Given the description of an element on the screen output the (x, y) to click on. 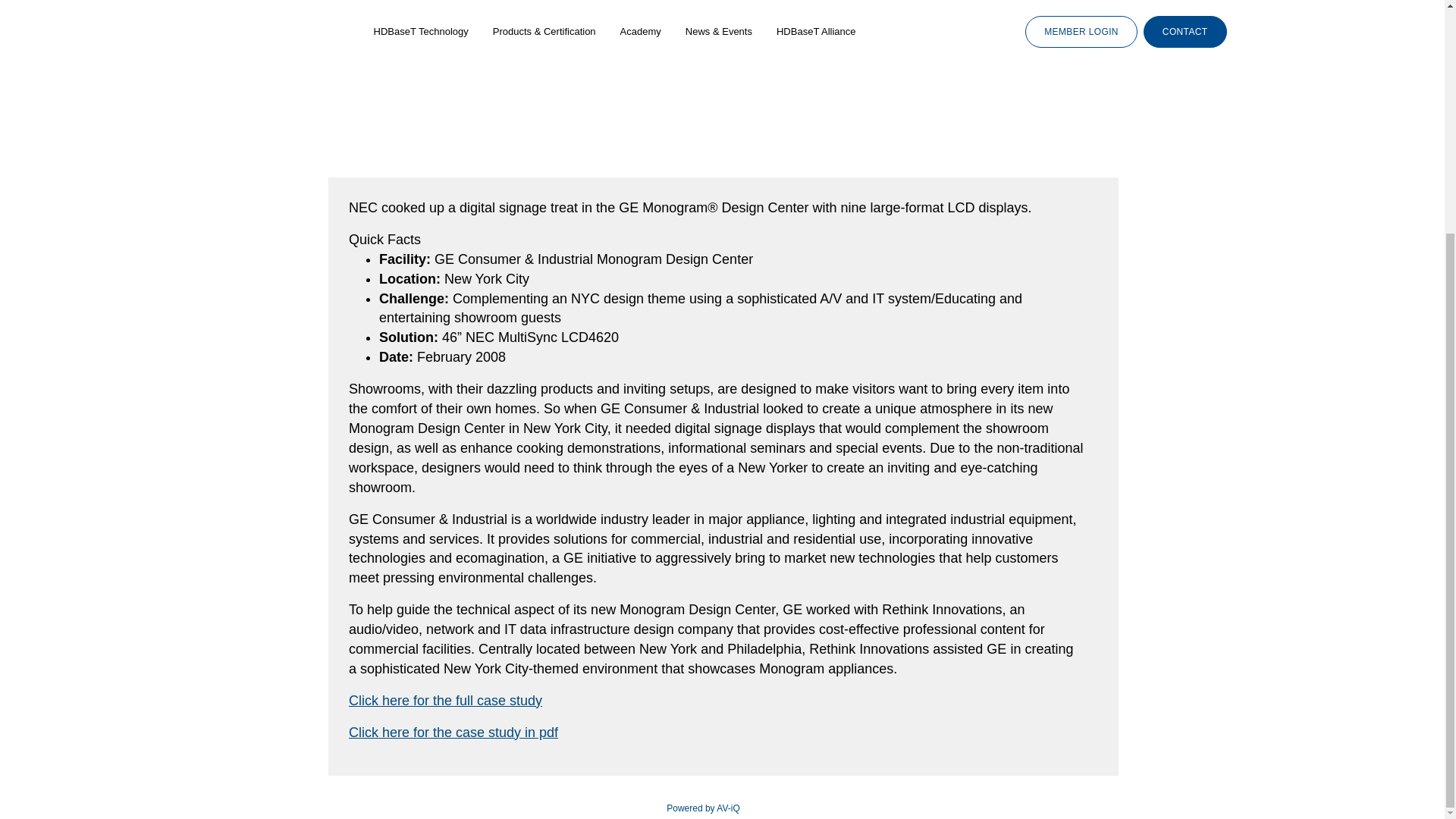
Click here for the full case study (445, 700)
Click here for the case study in pdf (453, 732)
Powered by AV-iQ (702, 808)
